Given the description of an element on the screen output the (x, y) to click on. 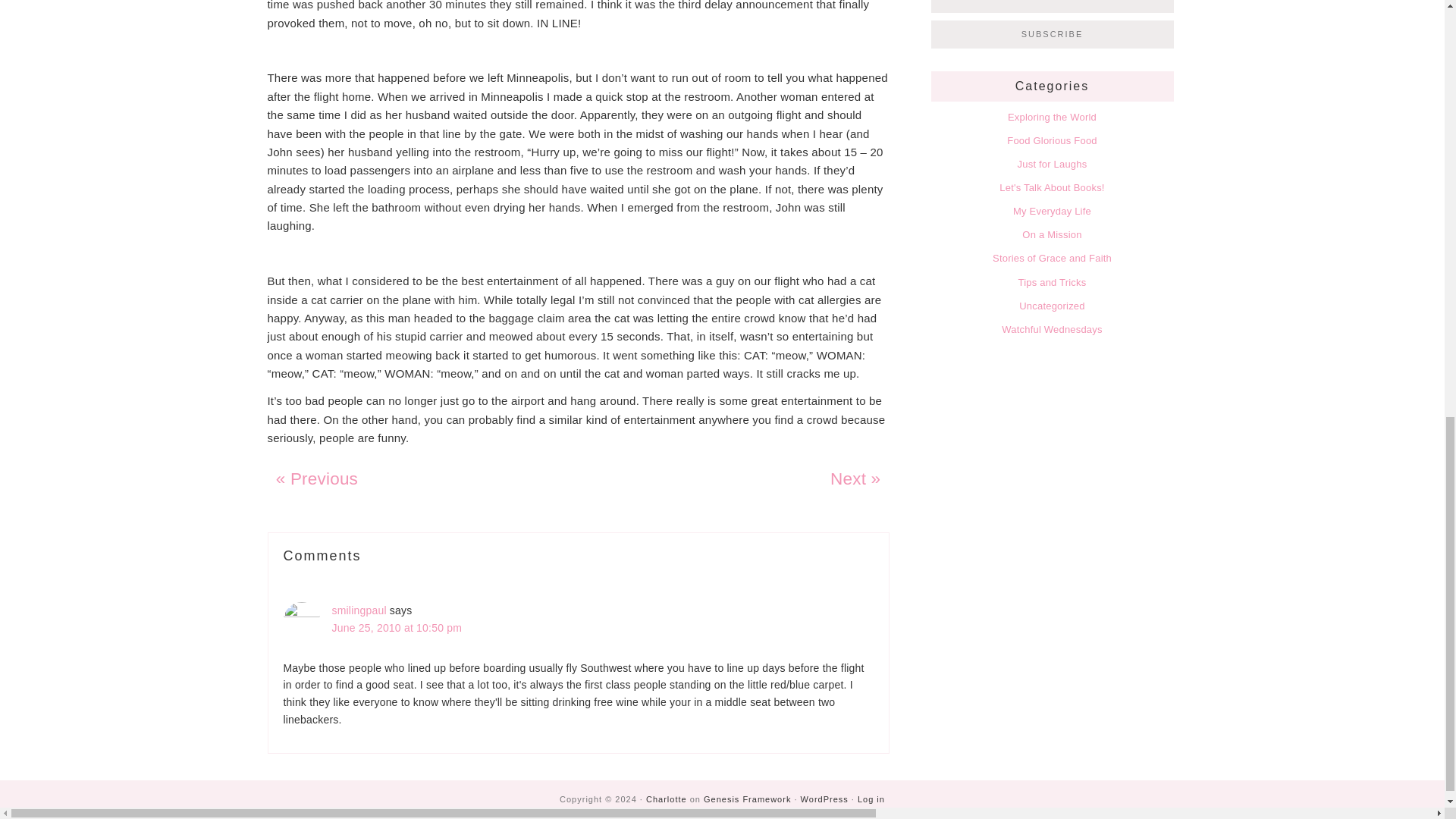
Genesis Framework (746, 798)
smilingpaul (359, 610)
Just for Laughs (1052, 163)
June 25, 2010 at 10:50 pm (397, 627)
Subscribe (1052, 34)
Log in (871, 798)
My Everyday Life (1051, 211)
Stories of Grace and Faith (1052, 257)
On a Mission (1051, 234)
Subscribe (1052, 34)
Watchful Wednesdays (1051, 328)
WordPress (824, 798)
Exploring the World (1051, 116)
Uncategorized (1051, 306)
Tips and Tricks (1051, 282)
